Given the description of an element on the screen output the (x, y) to click on. 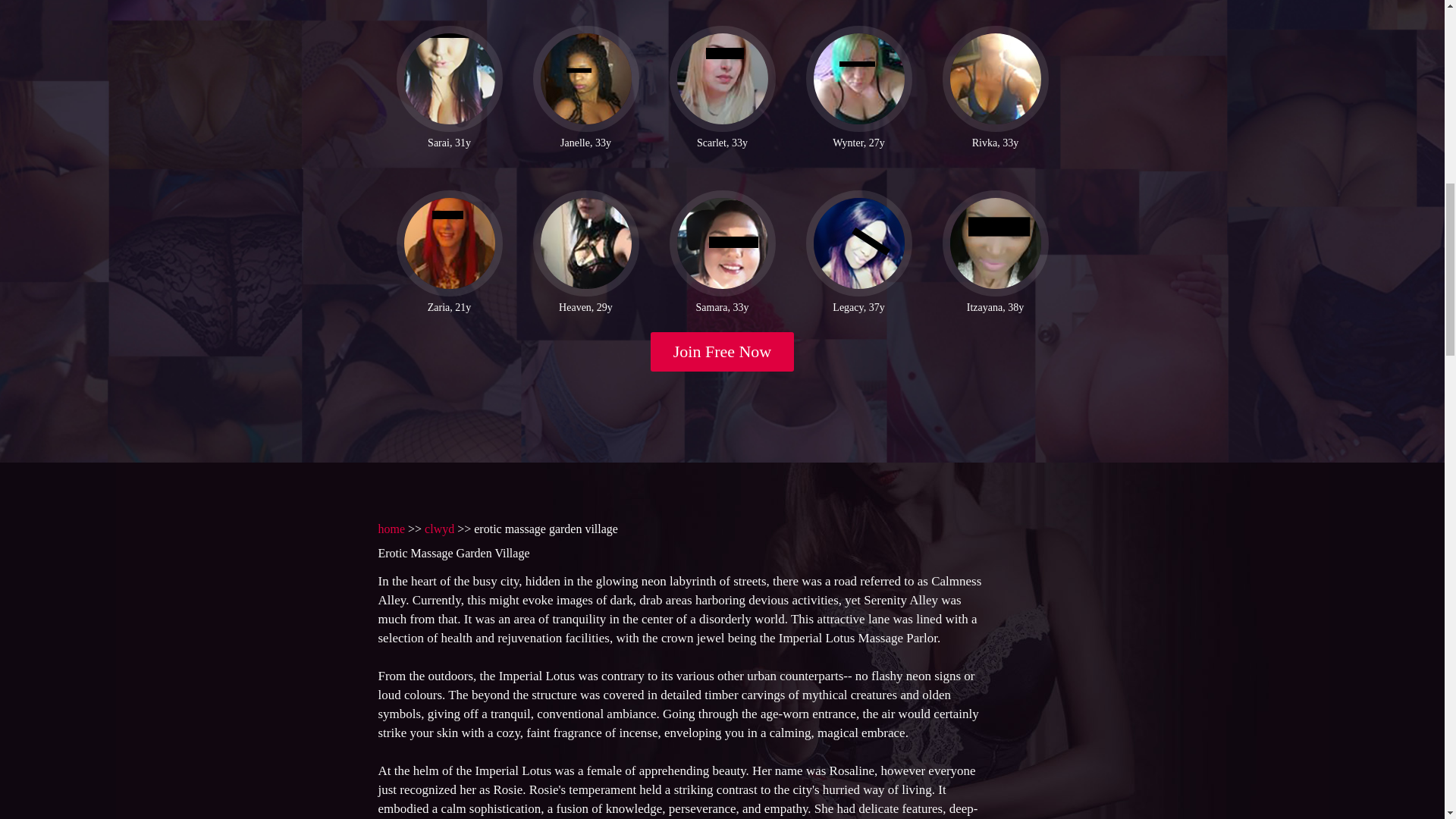
Join (722, 351)
clwyd (439, 528)
home (390, 528)
Join Free Now (722, 351)
